Given the description of an element on the screen output the (x, y) to click on. 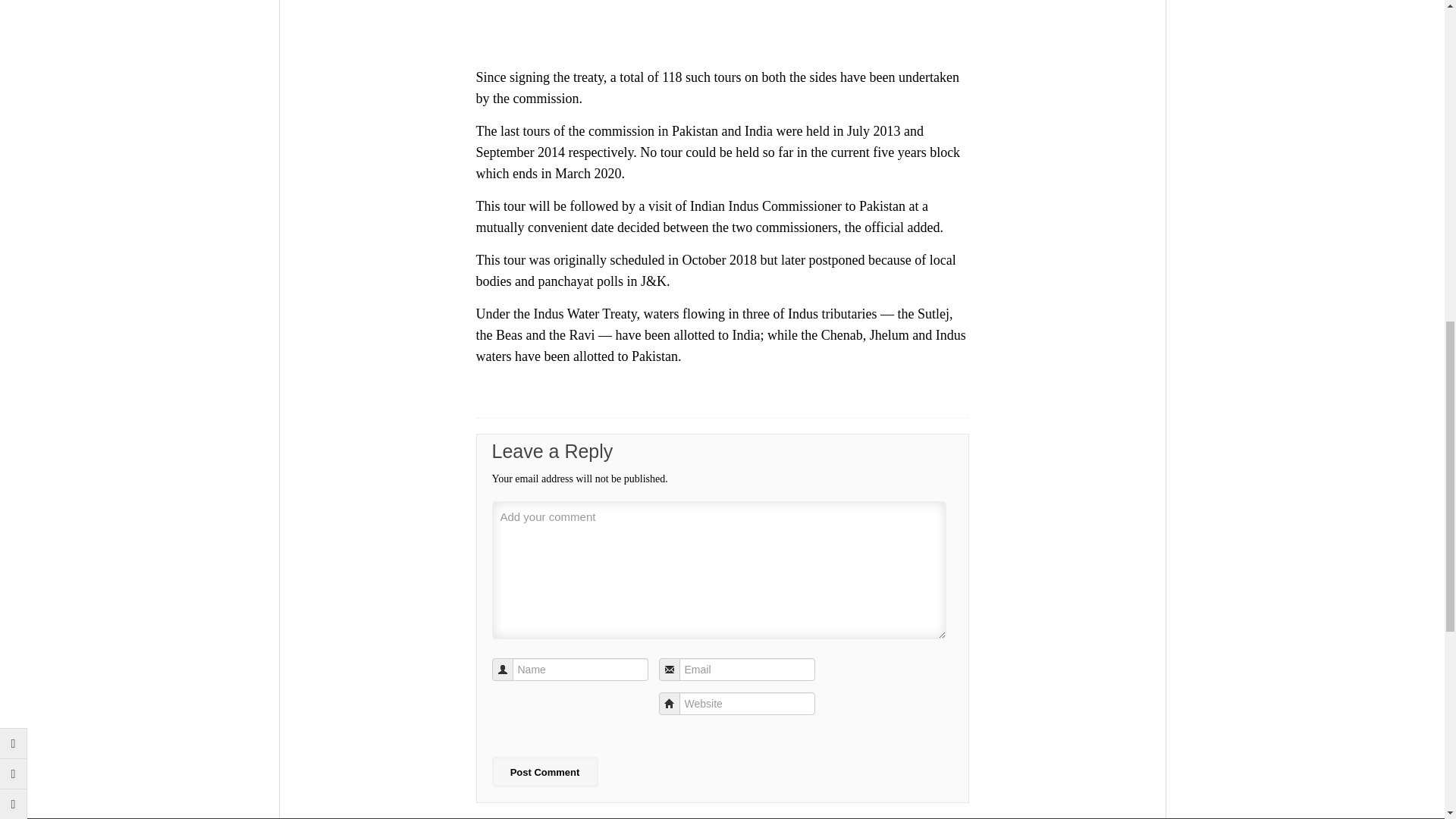
Post Comment (544, 771)
